Given the description of an element on the screen output the (x, y) to click on. 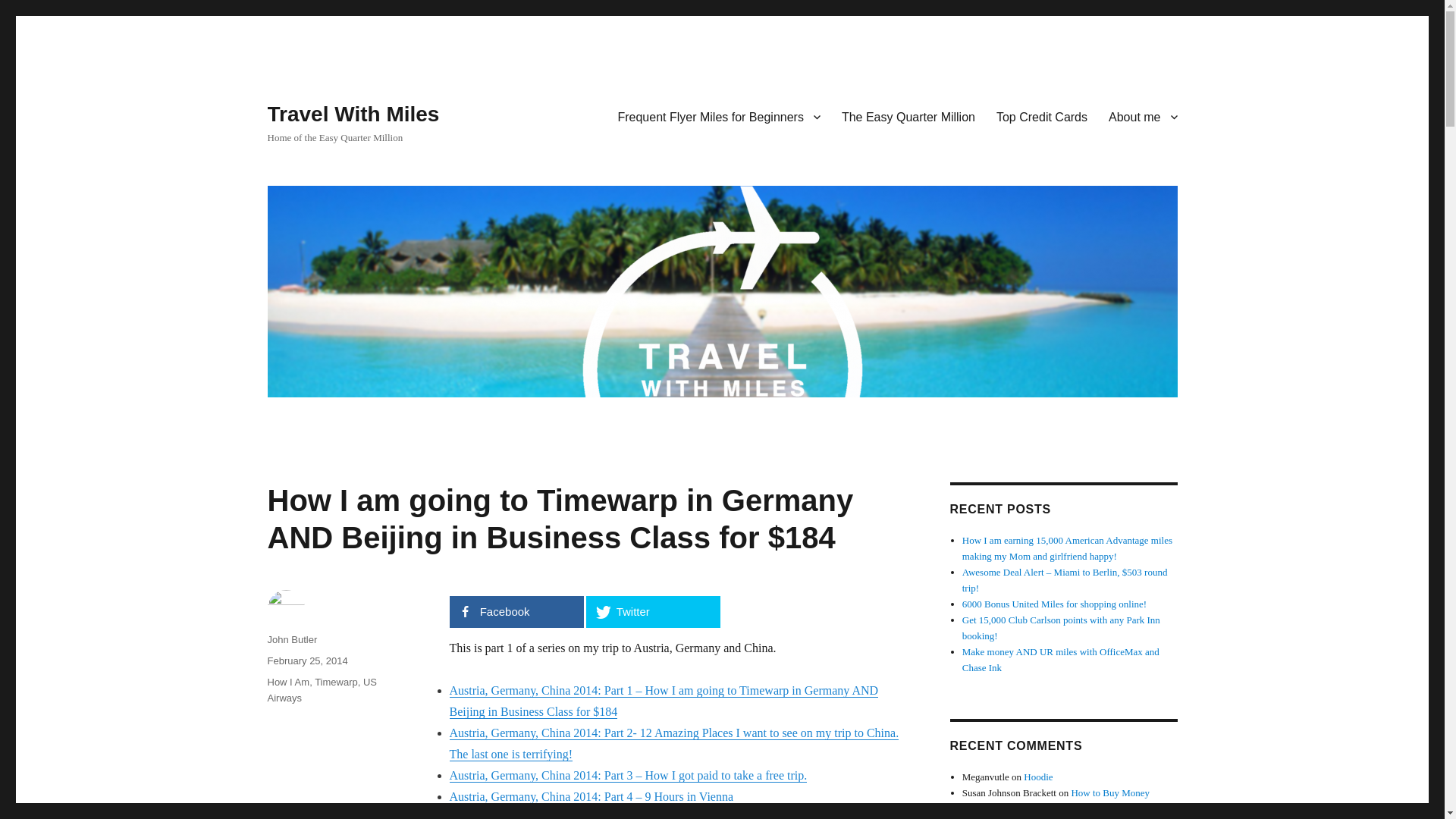
Twitter (652, 612)
Frequent Flyer Miles for Beginners (718, 116)
Facebook (515, 612)
The Easy Quarter Million (908, 116)
Travel With Miles (352, 114)
About me (1142, 116)
Top Credit Cards (1041, 116)
